Given the description of an element on the screen output the (x, y) to click on. 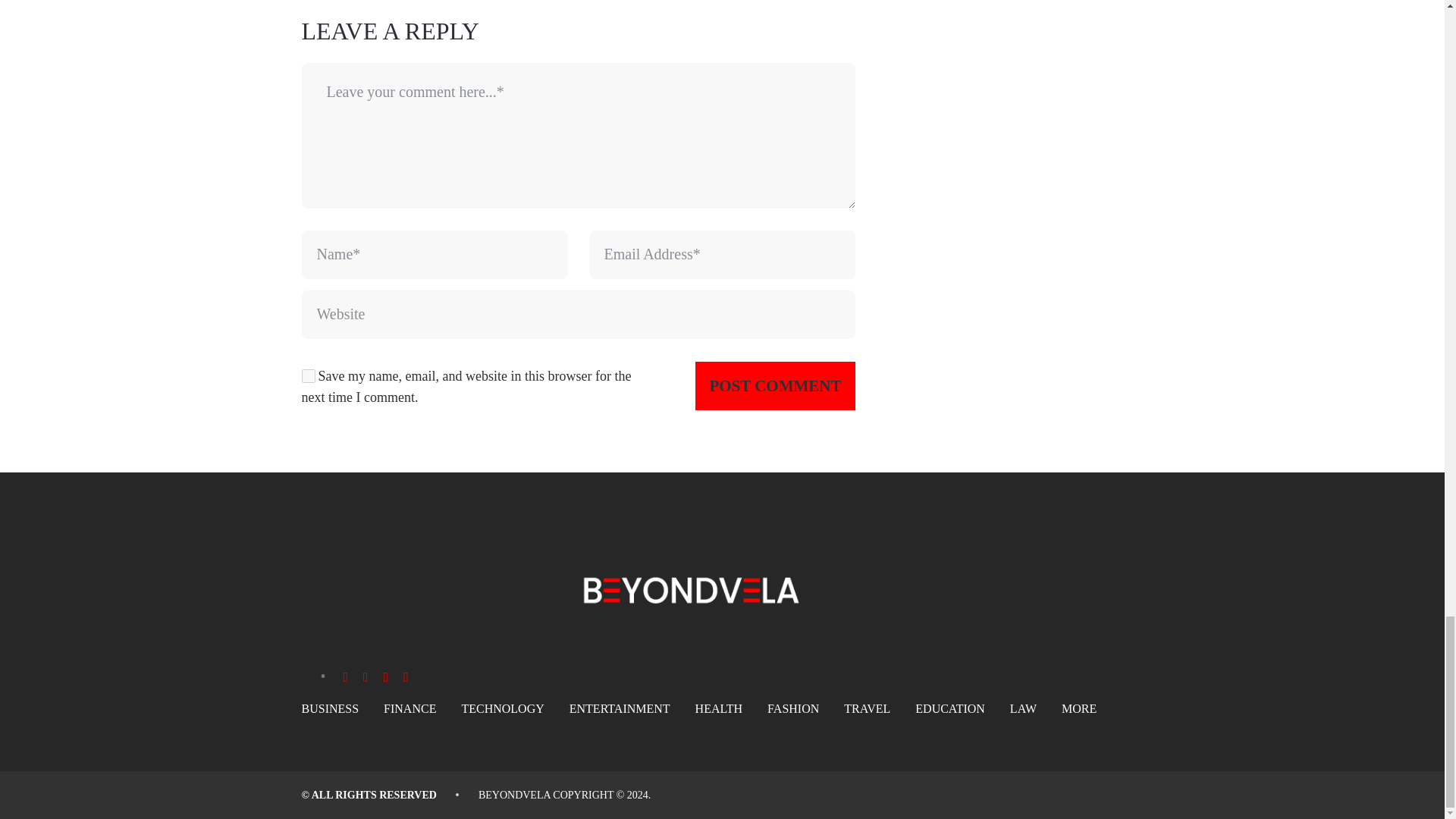
yes (308, 376)
BUSINESS (330, 707)
Post Comment (774, 385)
FINANCE (409, 707)
 Top Magazine 2020 (514, 794)
Post Comment (774, 385)
